Given the description of an element on the screen output the (x, y) to click on. 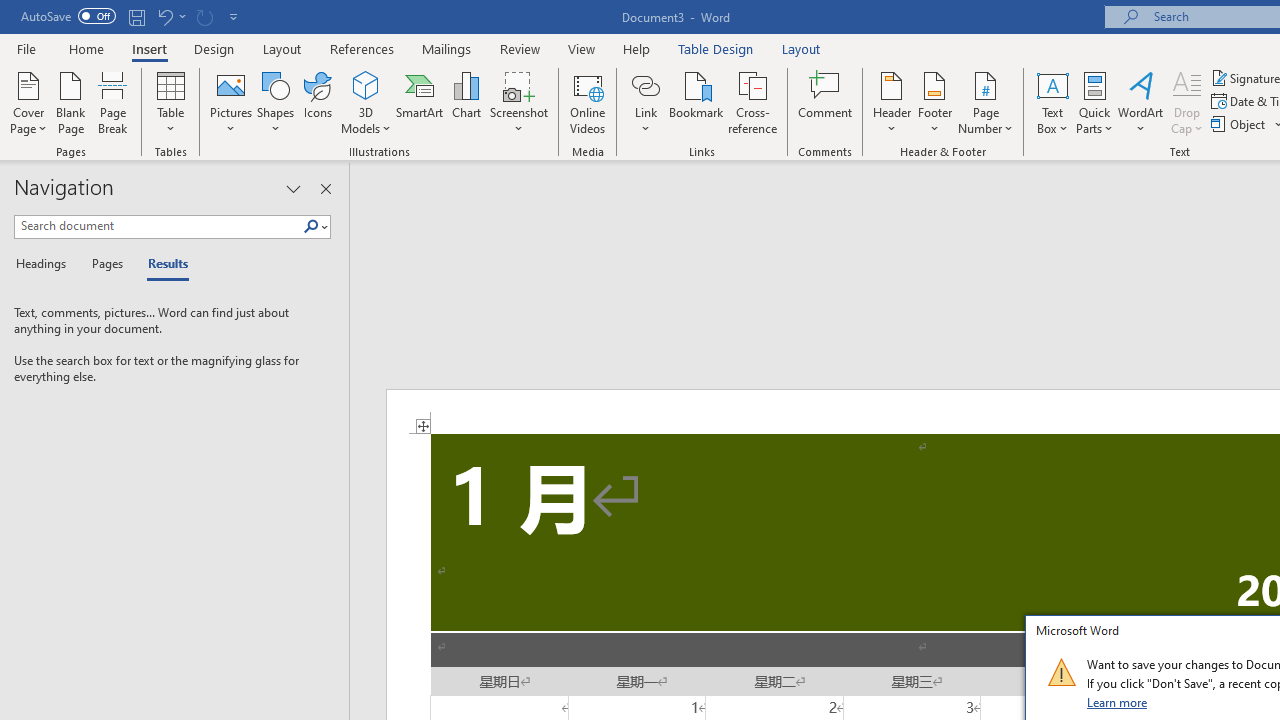
Undo Apply Quick Style (164, 15)
Pictures (230, 102)
Shapes (275, 102)
Can't Repeat (204, 15)
Cover Page (28, 102)
Link (645, 102)
Icons (317, 102)
Learn more (1118, 702)
Page Break (113, 102)
